Given the description of an element on the screen output the (x, y) to click on. 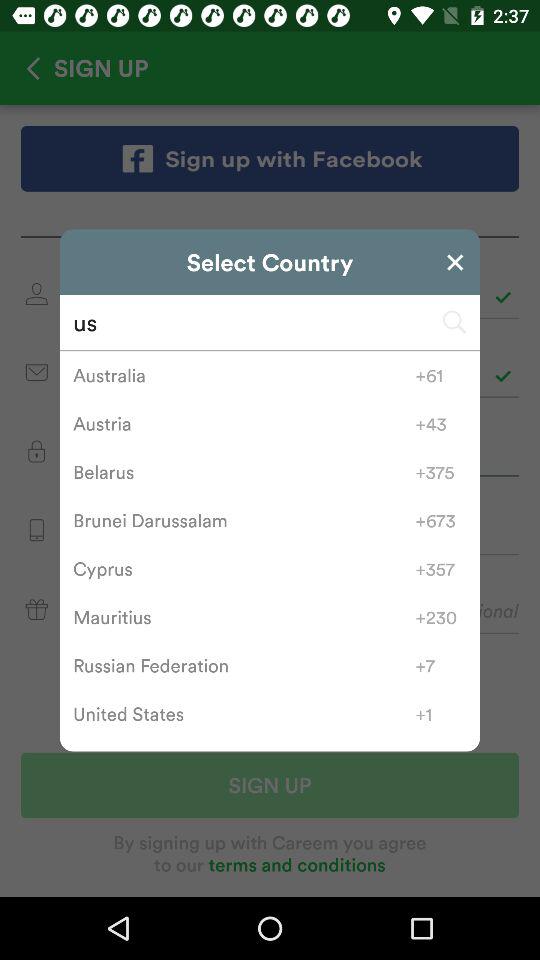
click +7 (440, 665)
